Given the description of an element on the screen output the (x, y) to click on. 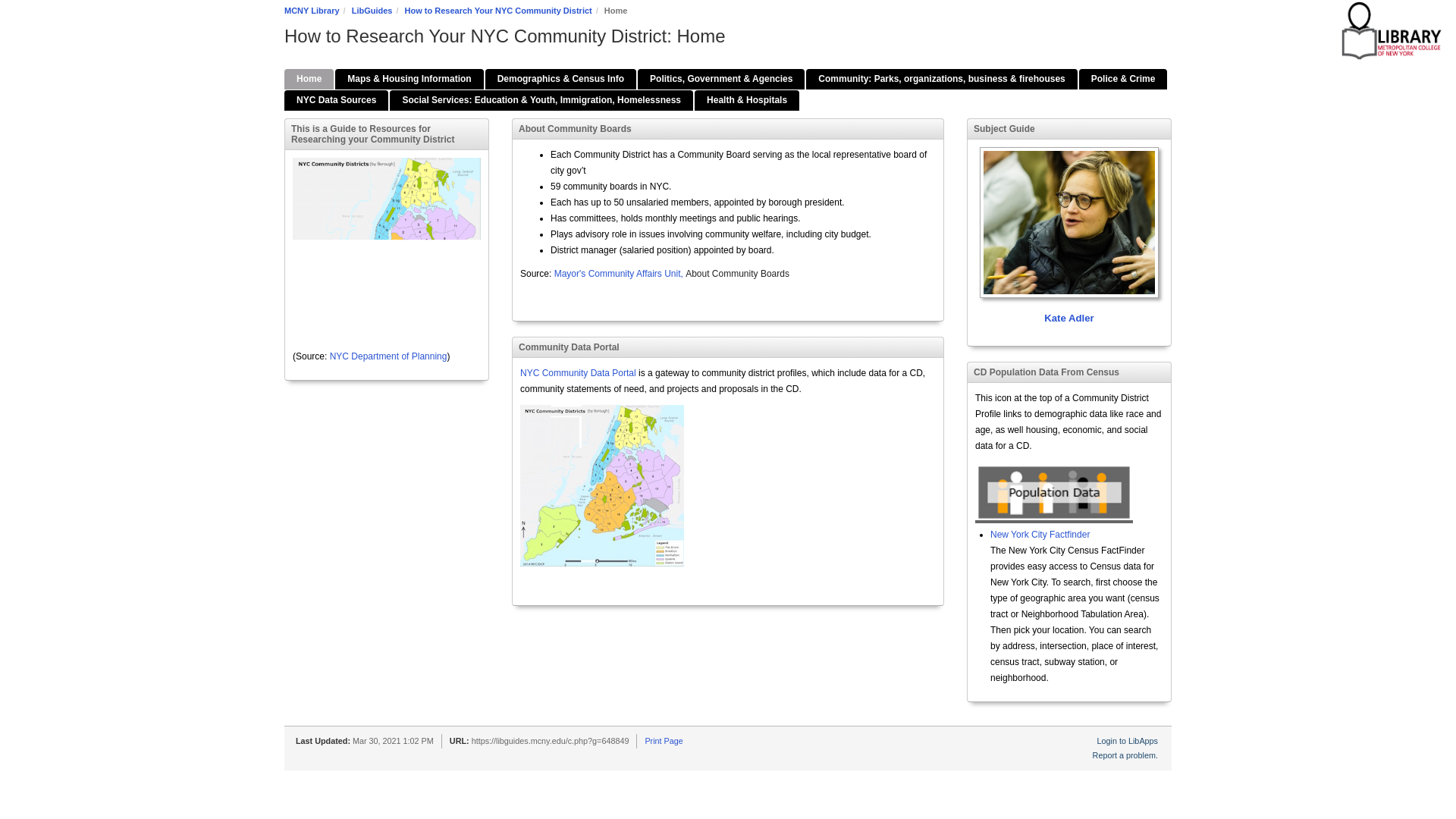
New York City Factfinder (1039, 534)
Print Page (663, 740)
Mayor's Community Affairs Unit, About Community Boards (671, 273)
Kate Adler (1069, 236)
Login to LibApps (1127, 740)
MCNY Library (311, 10)
Home (308, 78)
LibGuides (372, 10)
Navigating Your Way Around (408, 78)
Report a problem. (1125, 755)
